Given the description of an element on the screen output the (x, y) to click on. 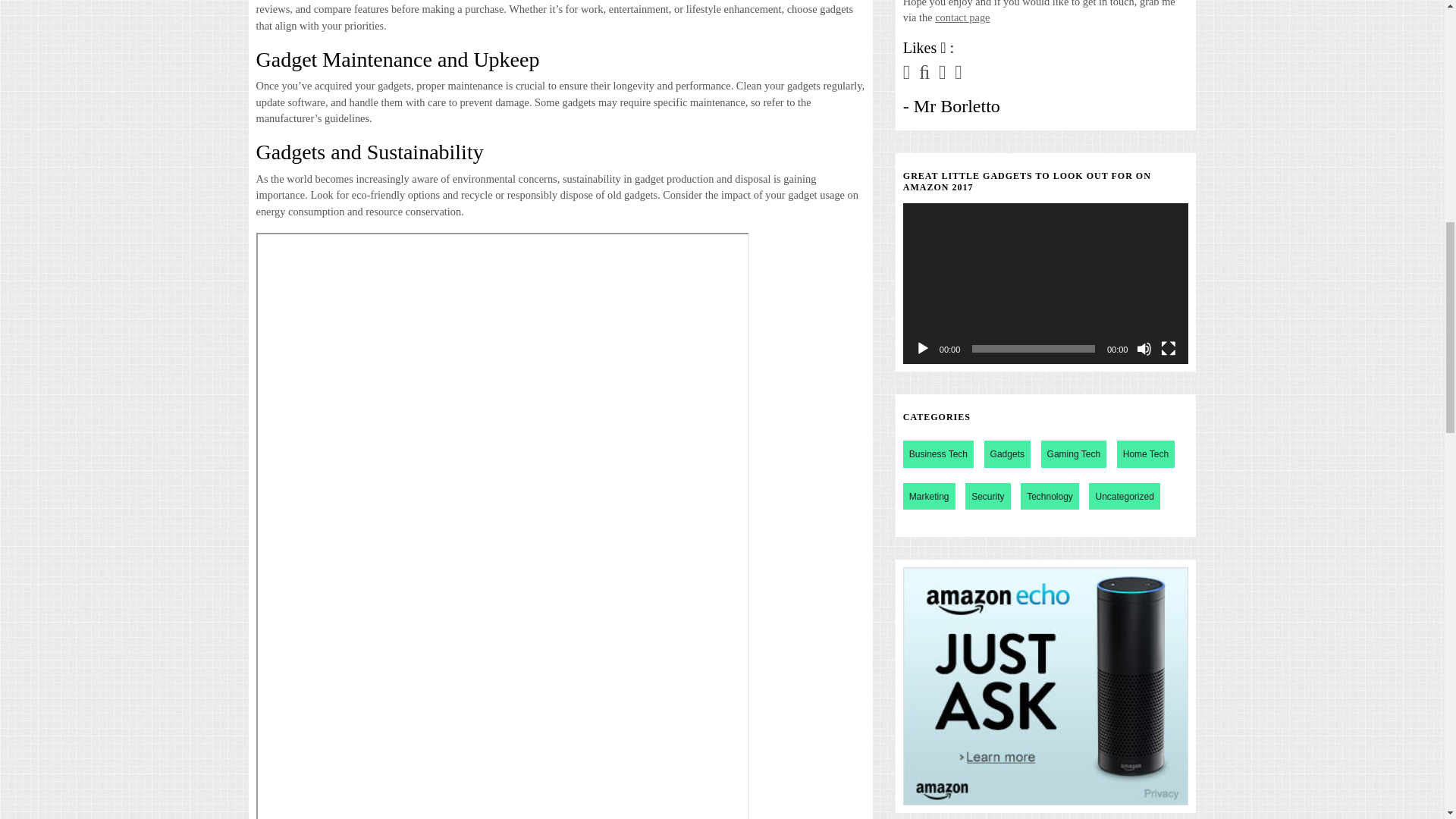
Play (922, 348)
Mute (1144, 348)
Gaming Tech (1073, 453)
Home Tech (1145, 453)
contact page (962, 17)
Gadgets (1007, 453)
Business Tech (938, 453)
Fullscreen (1168, 348)
